Given the description of an element on the screen output the (x, y) to click on. 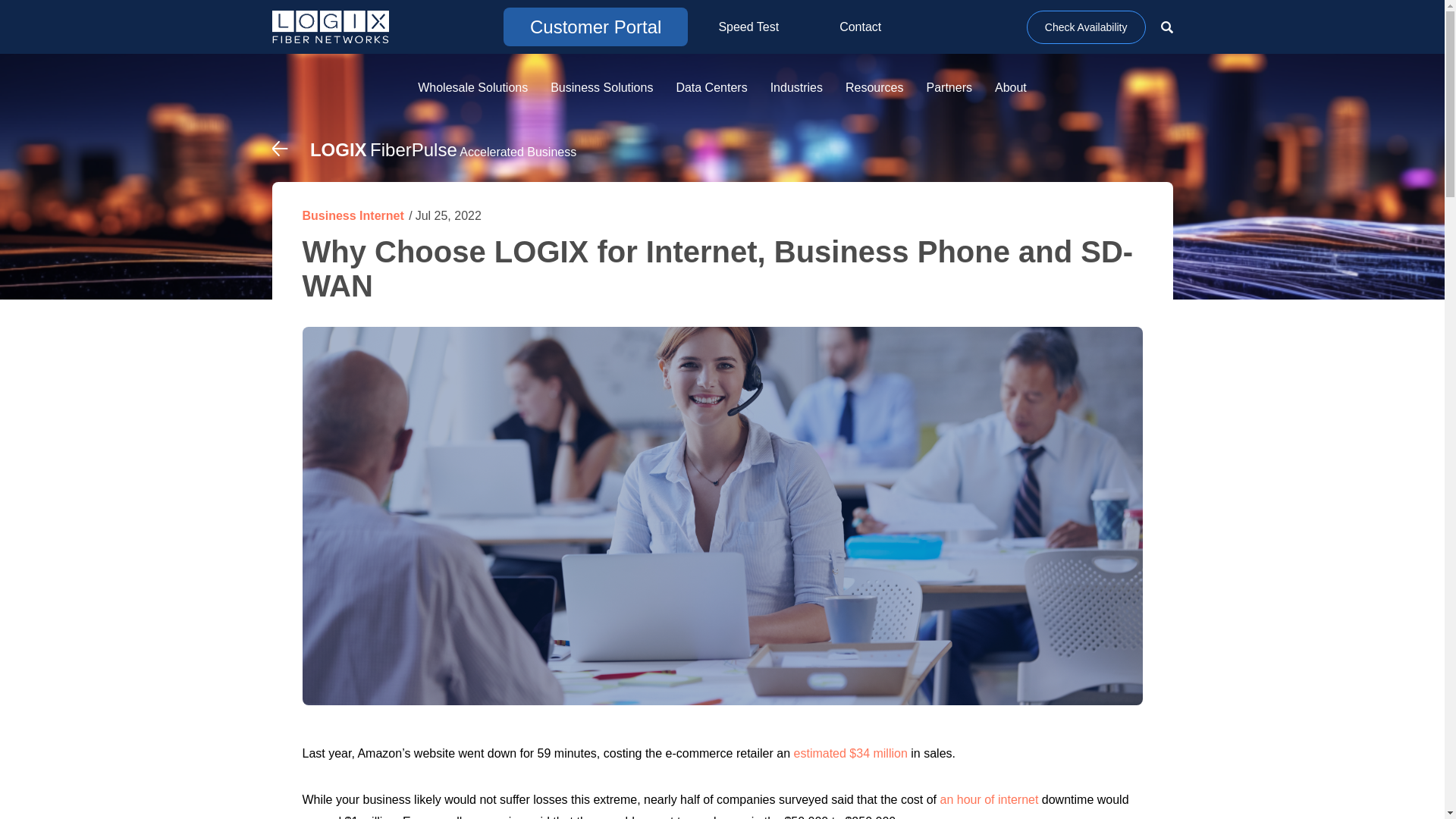
Speed Test (747, 26)
Resources (873, 92)
Wholesale Solutions (472, 92)
Customer Portal (595, 26)
Data Centers (710, 92)
Industries (796, 92)
About (1010, 92)
Check Availability (1085, 27)
Contact (860, 26)
Business Internet (352, 215)
an hour of internet (989, 799)
Partners (949, 92)
Business Solutions (601, 92)
